Given the description of an element on the screen output the (x, y) to click on. 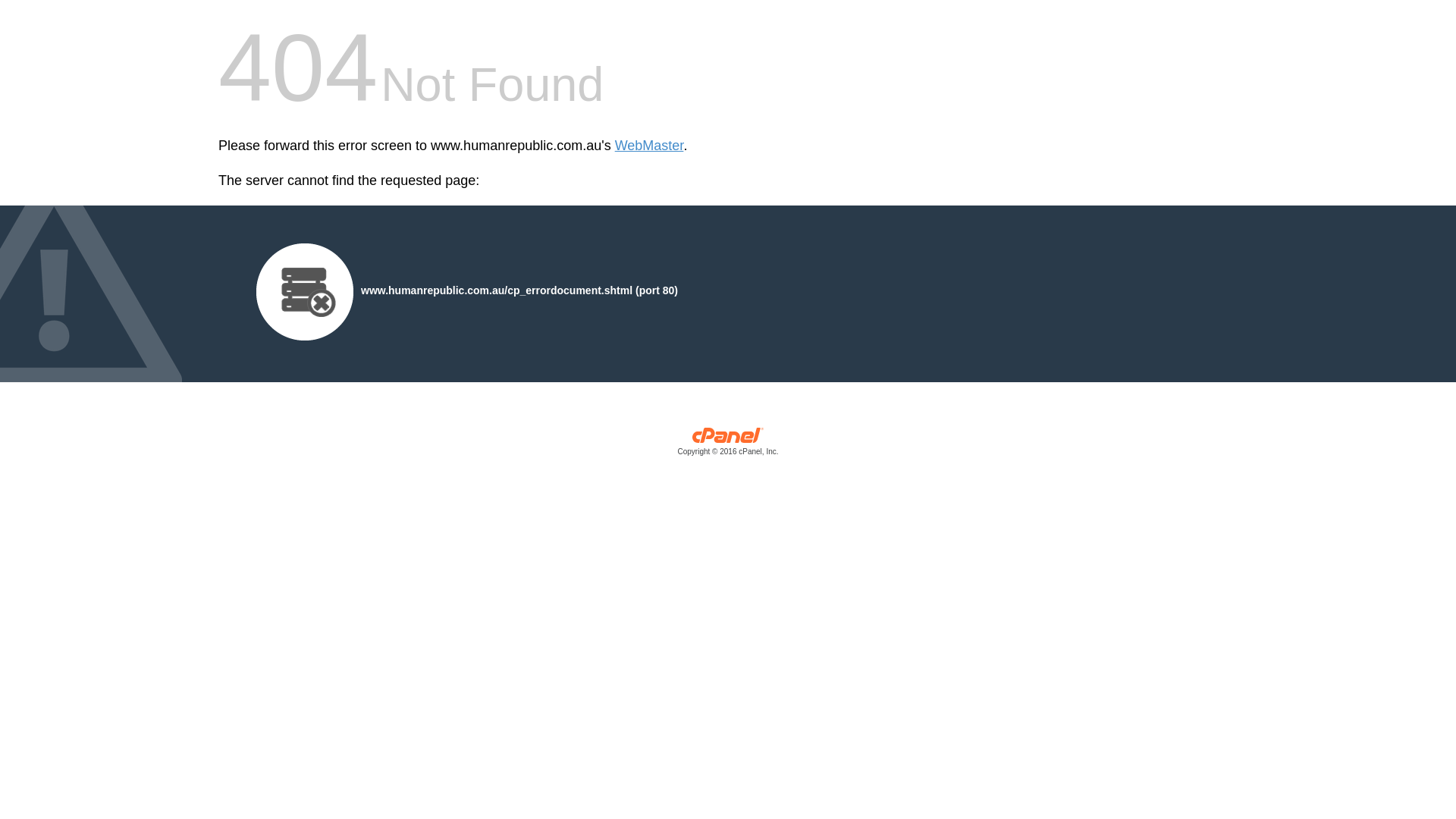
WebMaster Element type: text (649, 145)
